Given the description of an element on the screen output the (x, y) to click on. 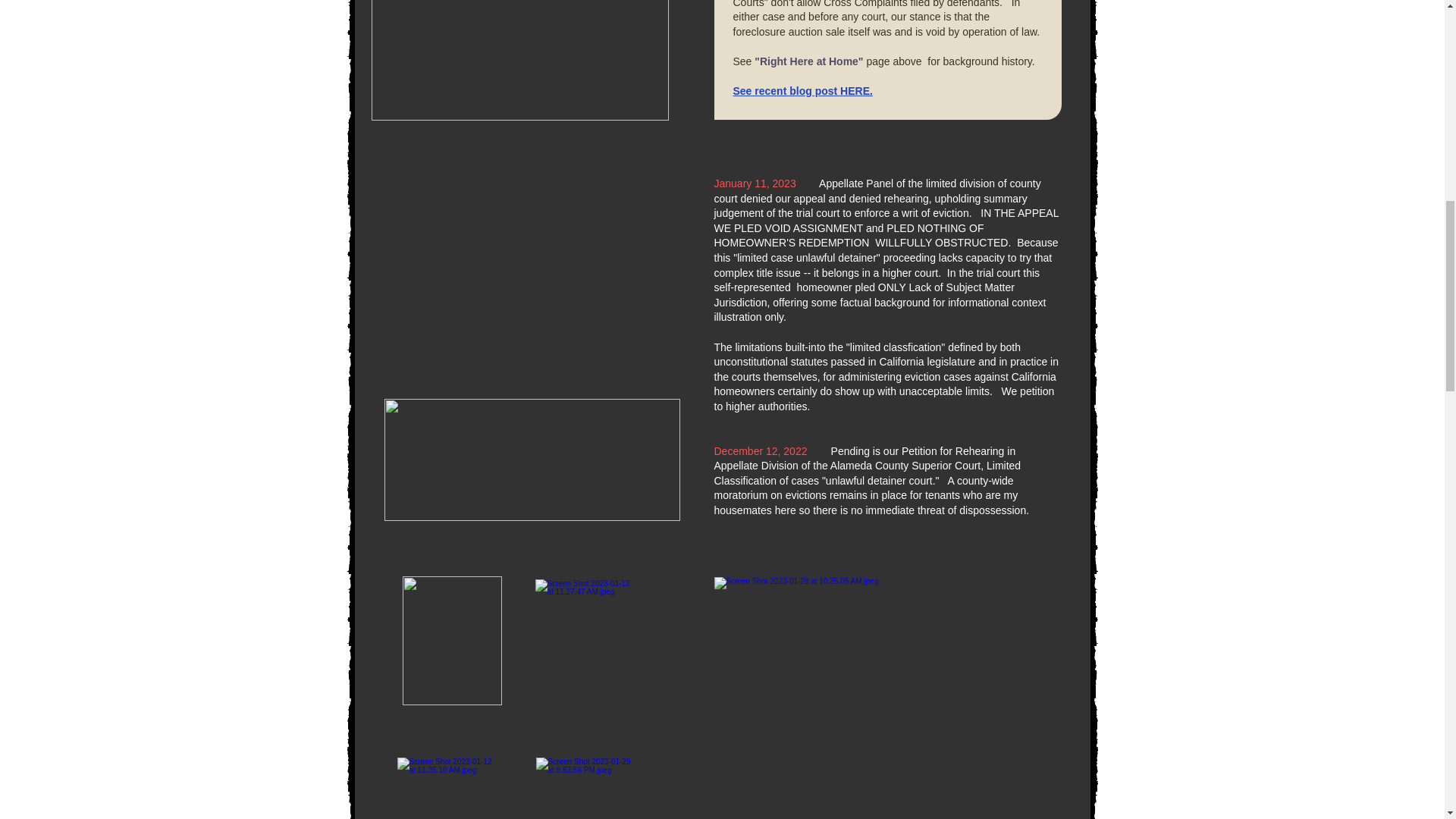
See recent blog post HERE. (802, 91)
